Given the description of an element on the screen output the (x, y) to click on. 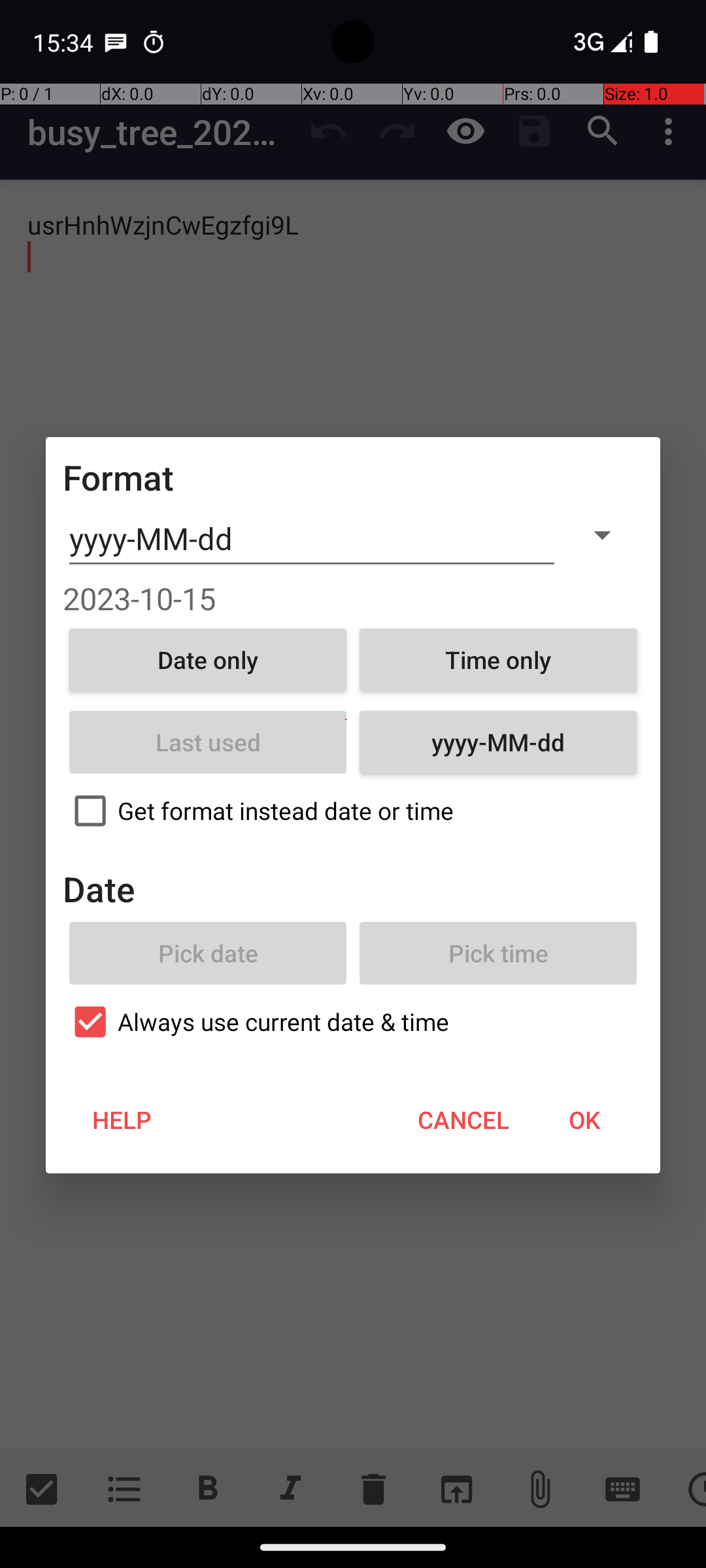
2023-10-15 Element type: android.widget.TextView (352, 597)
